Given the description of an element on the screen output the (x, y) to click on. 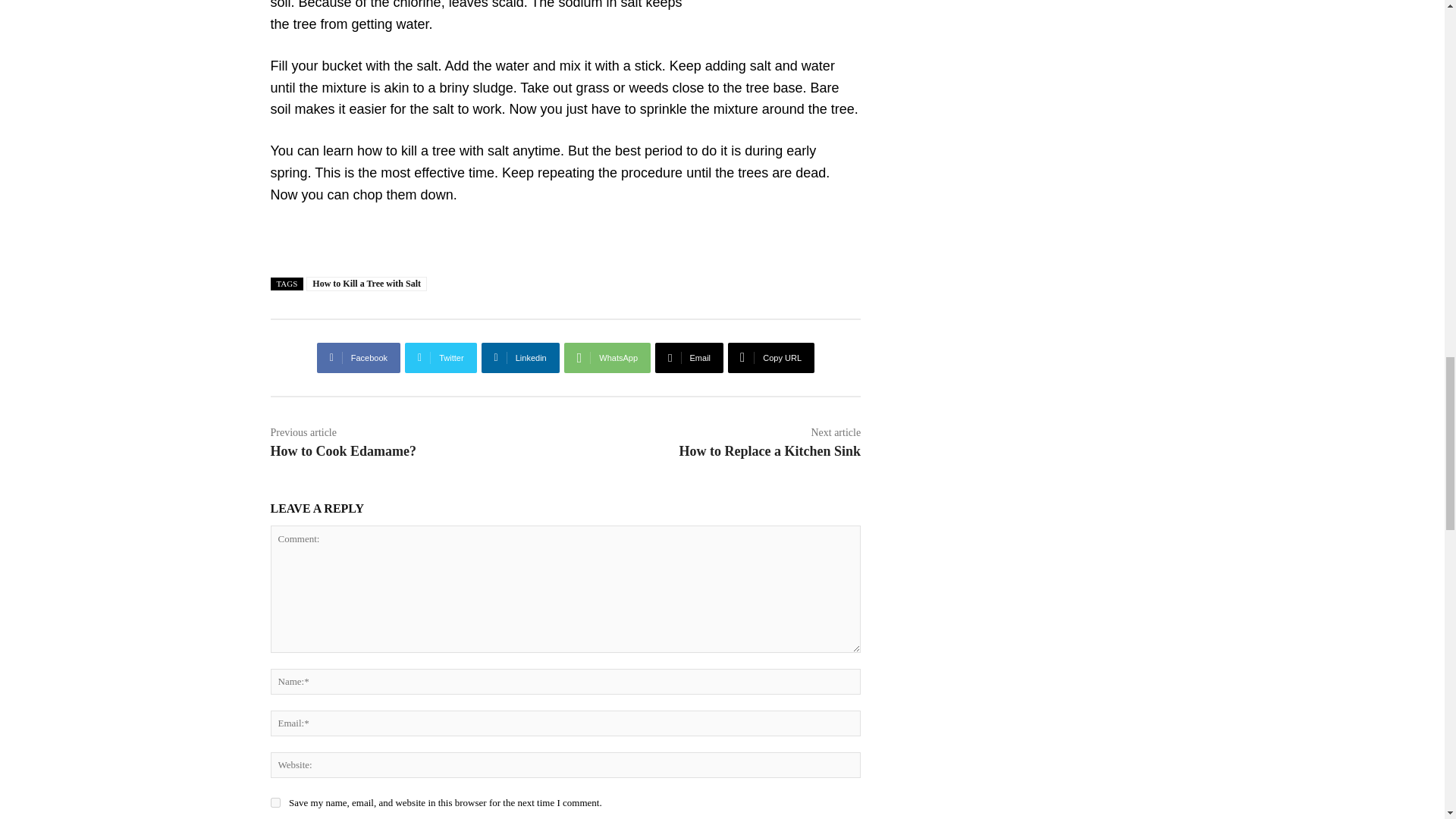
yes (274, 802)
